Given the description of an element on the screen output the (x, y) to click on. 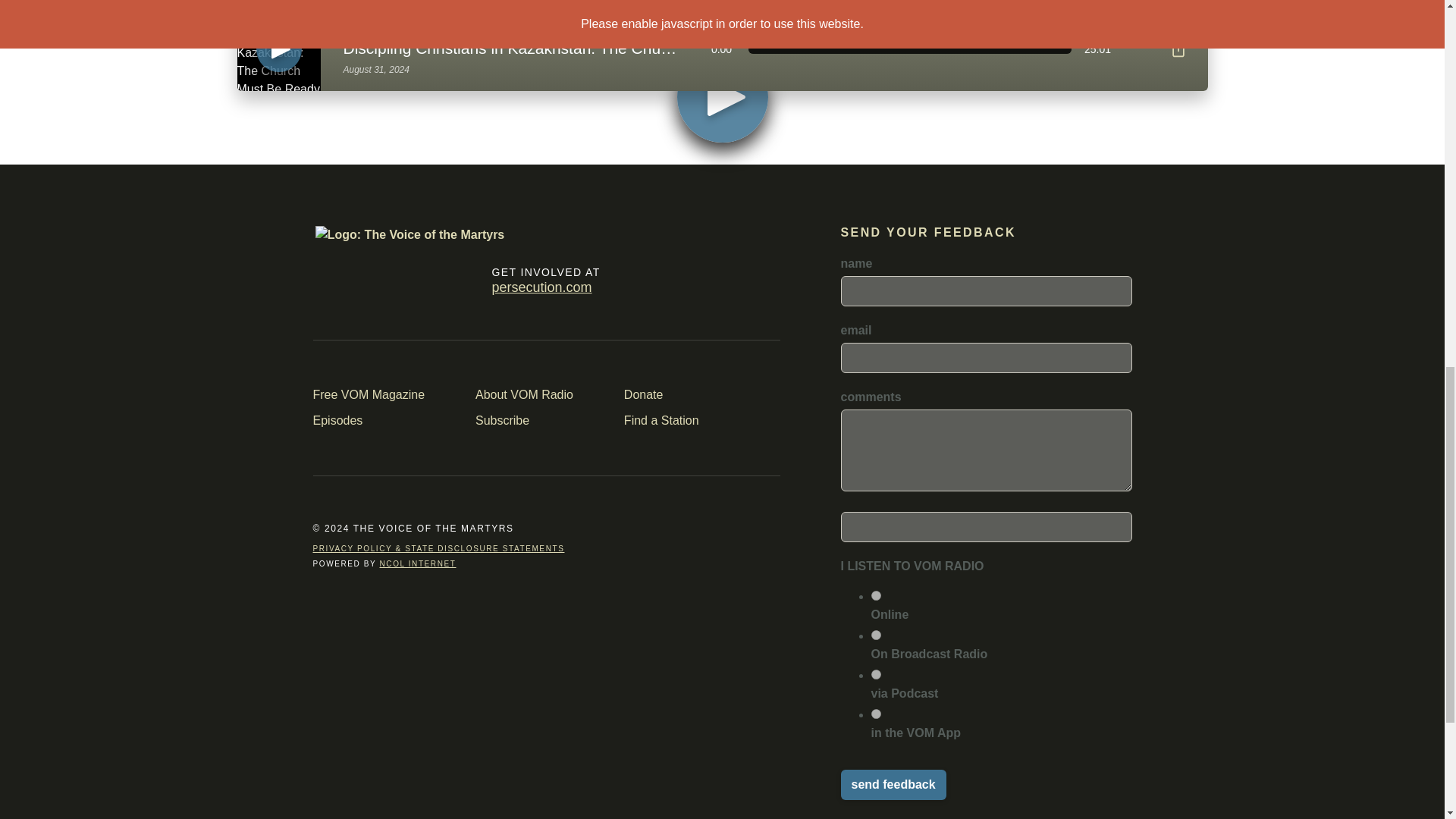
send feedback (892, 784)
Facebook (635, 280)
send feedback (326, 280)
Pinterest (892, 784)
here (425, 280)
VOM App (902, 56)
Online (721, 47)
Subscribe to the podcast (875, 595)
Find a Station (515, 38)
